Given the description of an element on the screen output the (x, y) to click on. 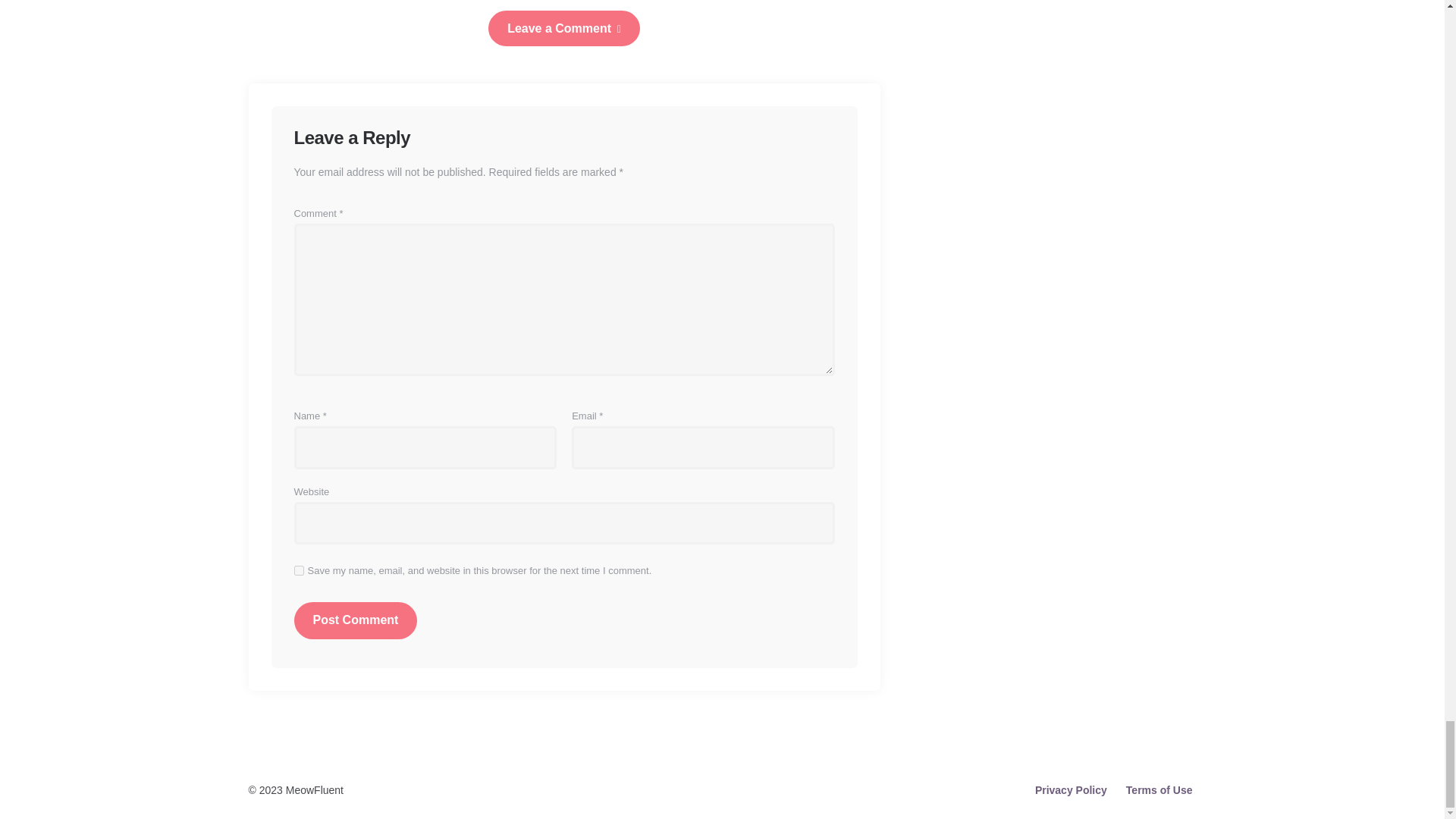
Post Comment (355, 619)
yes (299, 570)
